Given the description of an element on the screen output the (x, y) to click on. 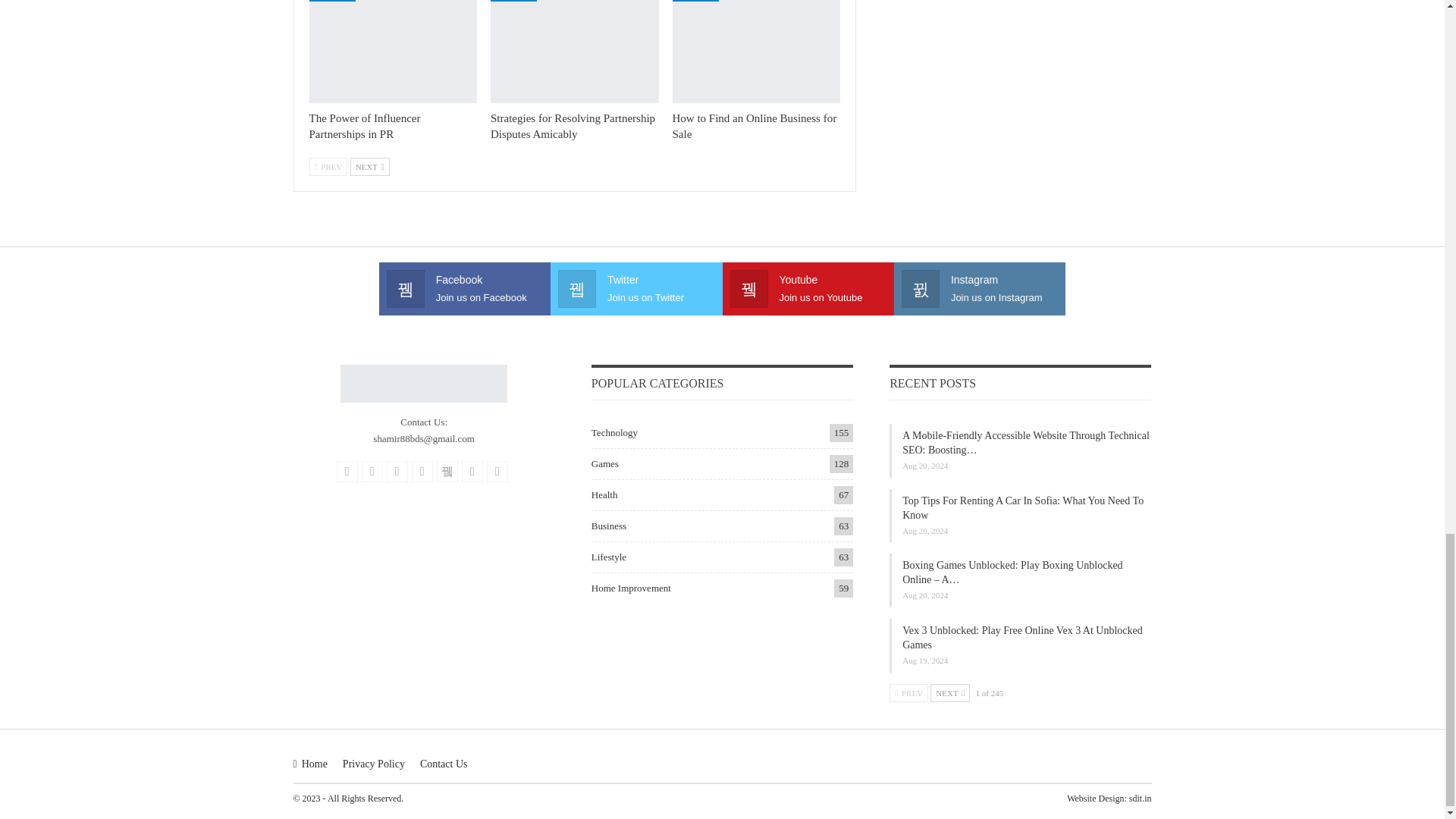
The Power of Influencer Partnerships in PR (364, 126)
The Power of Influencer Partnerships in PR (392, 51)
Strategies for Resolving Partnership Disputes Amicably (574, 51)
How to Find an Online Business for Sale (754, 126)
Strategies for Resolving Partnership Disputes Amicably (572, 126)
How to Find an Online Business for Sale (756, 51)
Previous (327, 167)
